Given the description of an element on the screen output the (x, y) to click on. 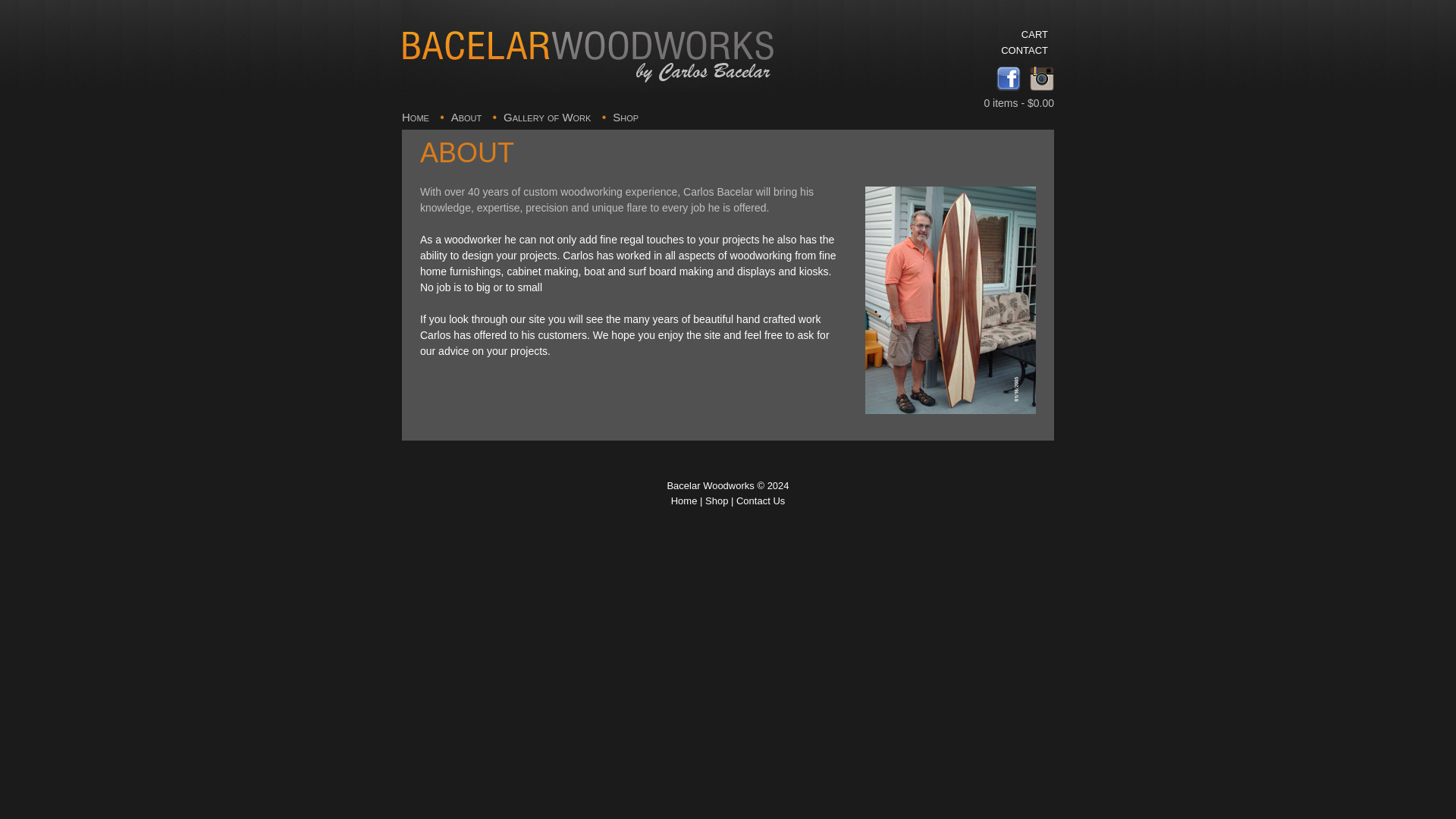
Contact Us (760, 500)
Contact Us (760, 500)
Bacelar Woodworks (588, 45)
Facebook (1007, 87)
Shop (716, 500)
Gallery of Work (547, 116)
CART (978, 34)
Shop (716, 500)
Shop (625, 116)
Bacelar Woodworks (710, 485)
